Given the description of an element on the screen output the (x, y) to click on. 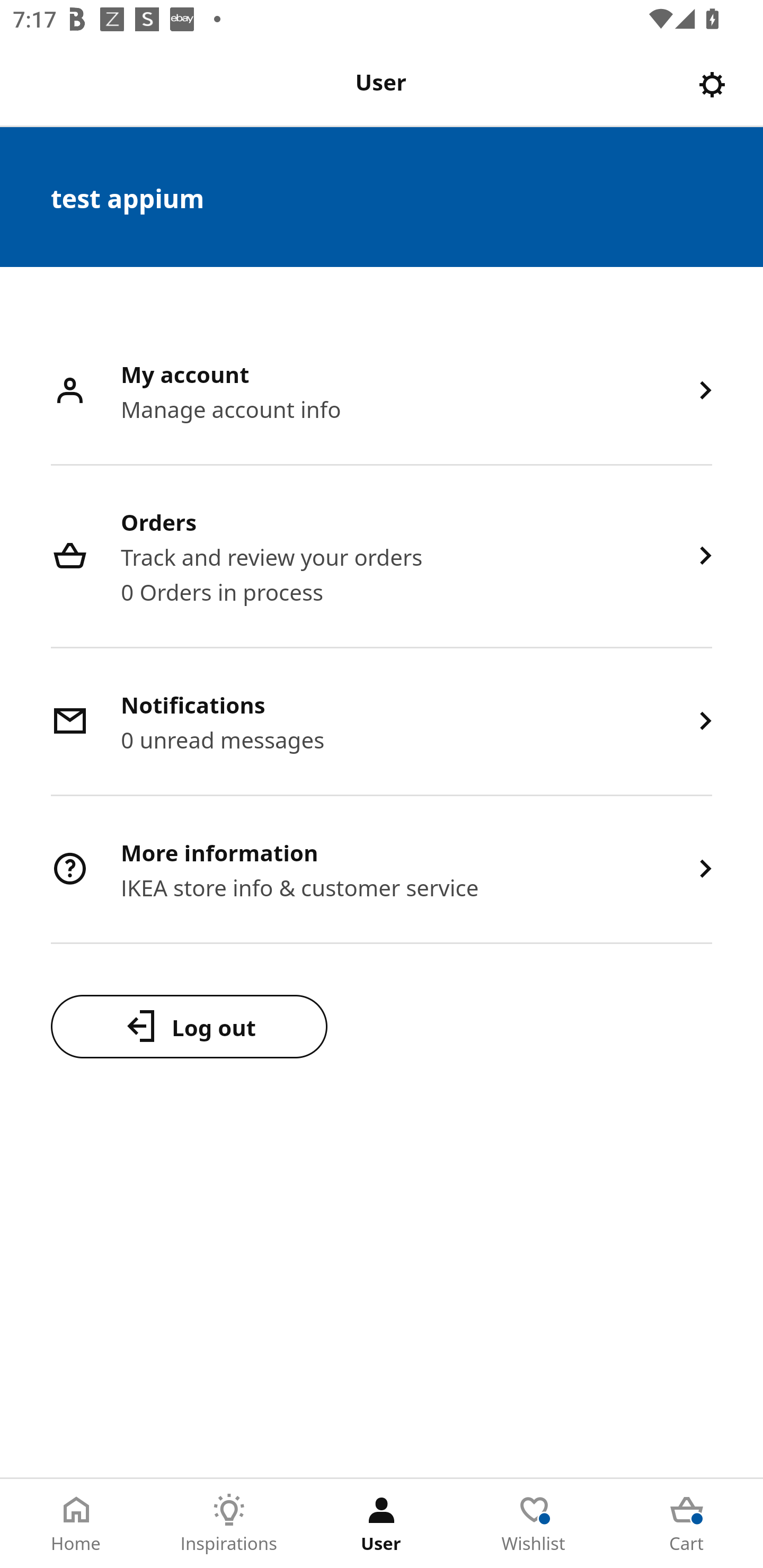
My account
Manage account info (381, 391)
Notifications
0 unread messages (381, 722)
Log out (189, 1026)
Home
Tab 1 of 5 (76, 1522)
Inspirations
Tab 2 of 5 (228, 1522)
User
Tab 3 of 5 (381, 1522)
Wishlist
Tab 4 of 5 (533, 1522)
Cart
Tab 5 of 5 (686, 1522)
